Given the description of an element on the screen output the (x, y) to click on. 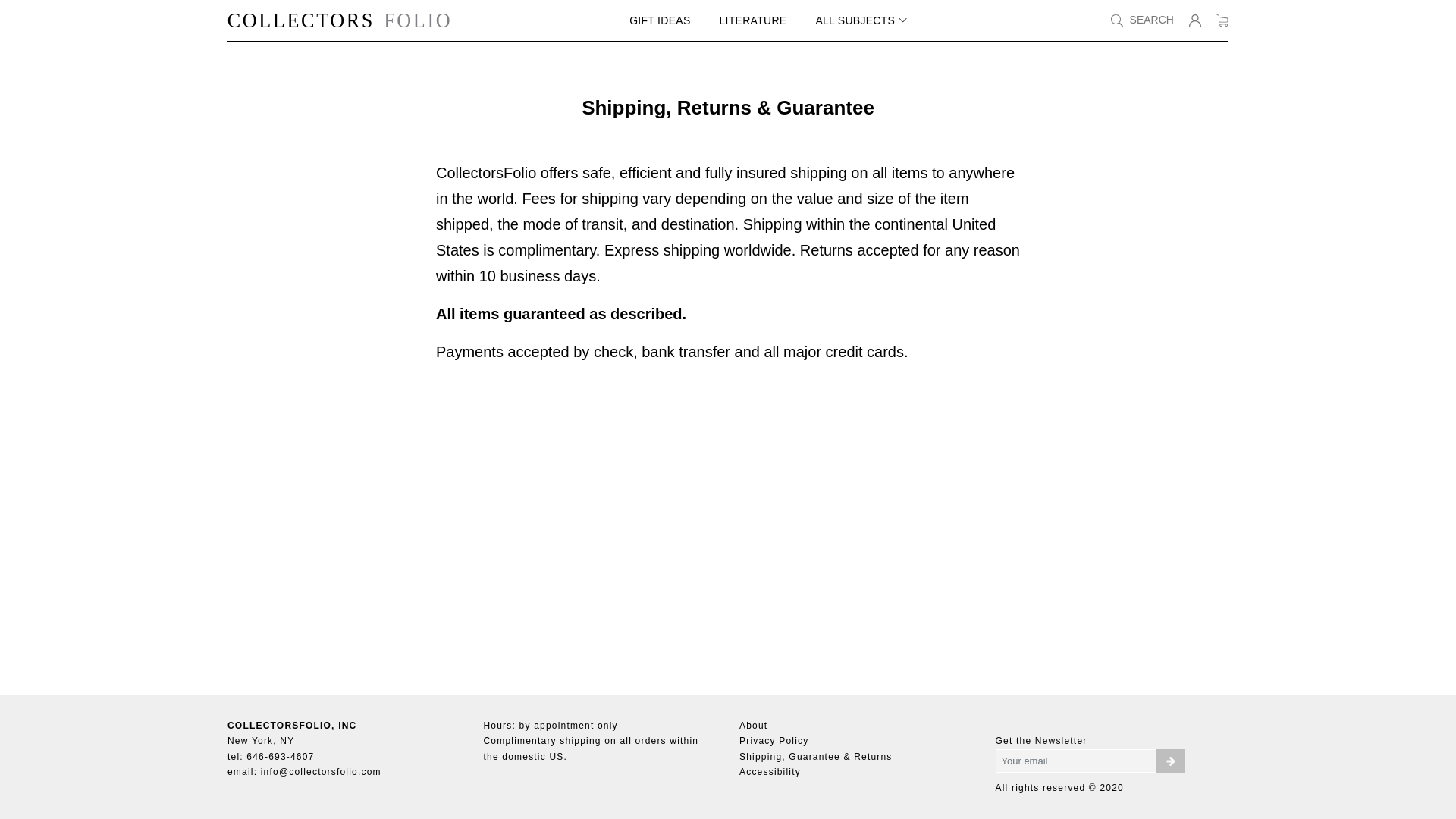
Accessibility (769, 771)
LITERATURE (753, 19)
About (753, 725)
About (753, 725)
cart (1221, 20)
GIFT IDEAS (659, 19)
ALL SUBJECTS (861, 19)
SEARCH (1141, 20)
Account (1195, 20)
Privacy Policy (773, 740)
